Given the description of an element on the screen output the (x, y) to click on. 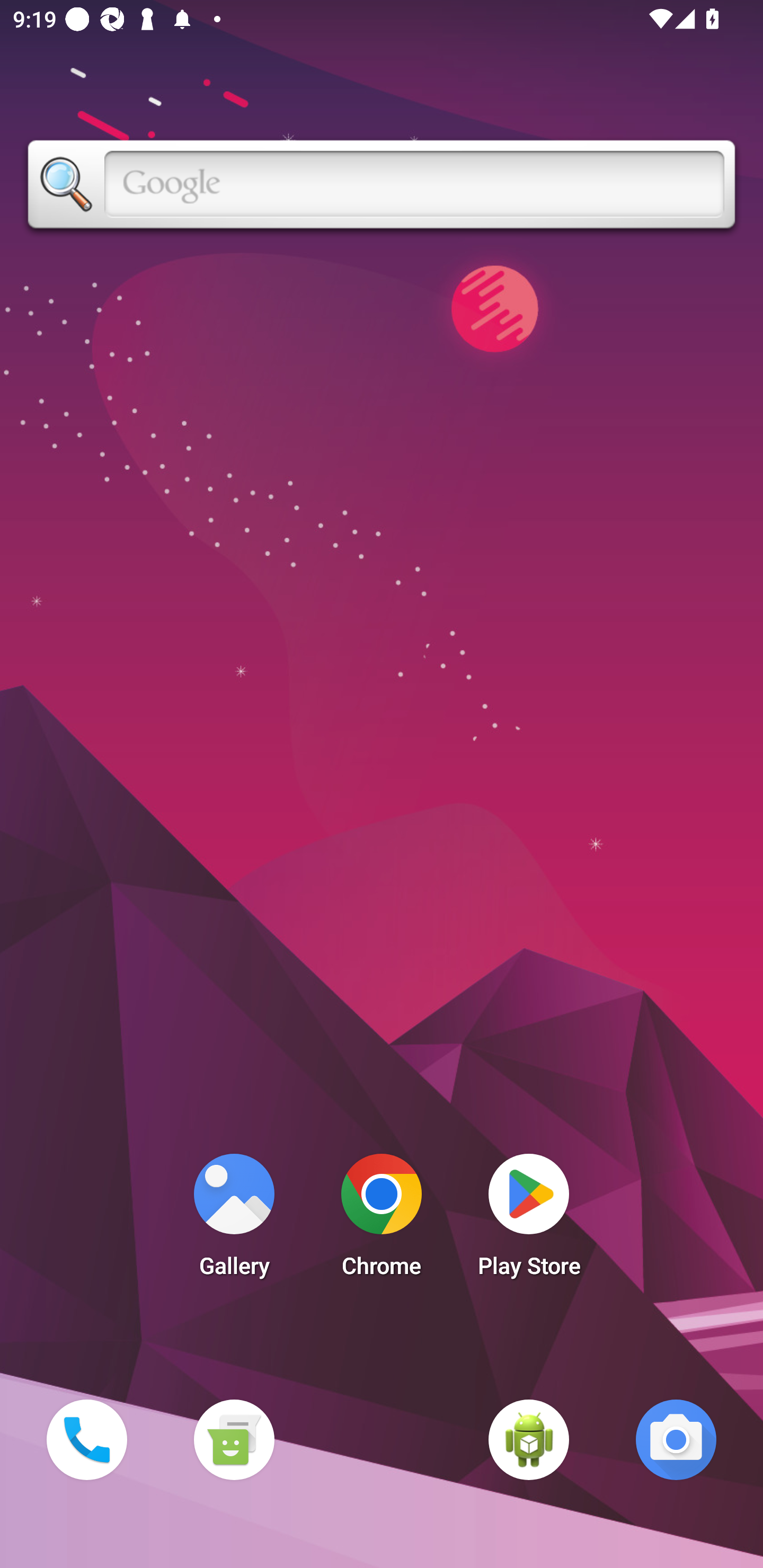
Gallery (233, 1220)
Chrome (381, 1220)
Play Store (528, 1220)
Phone (86, 1439)
Messaging (233, 1439)
WebView Browser Tester (528, 1439)
Camera (676, 1439)
